Given the description of an element on the screen output the (x, y) to click on. 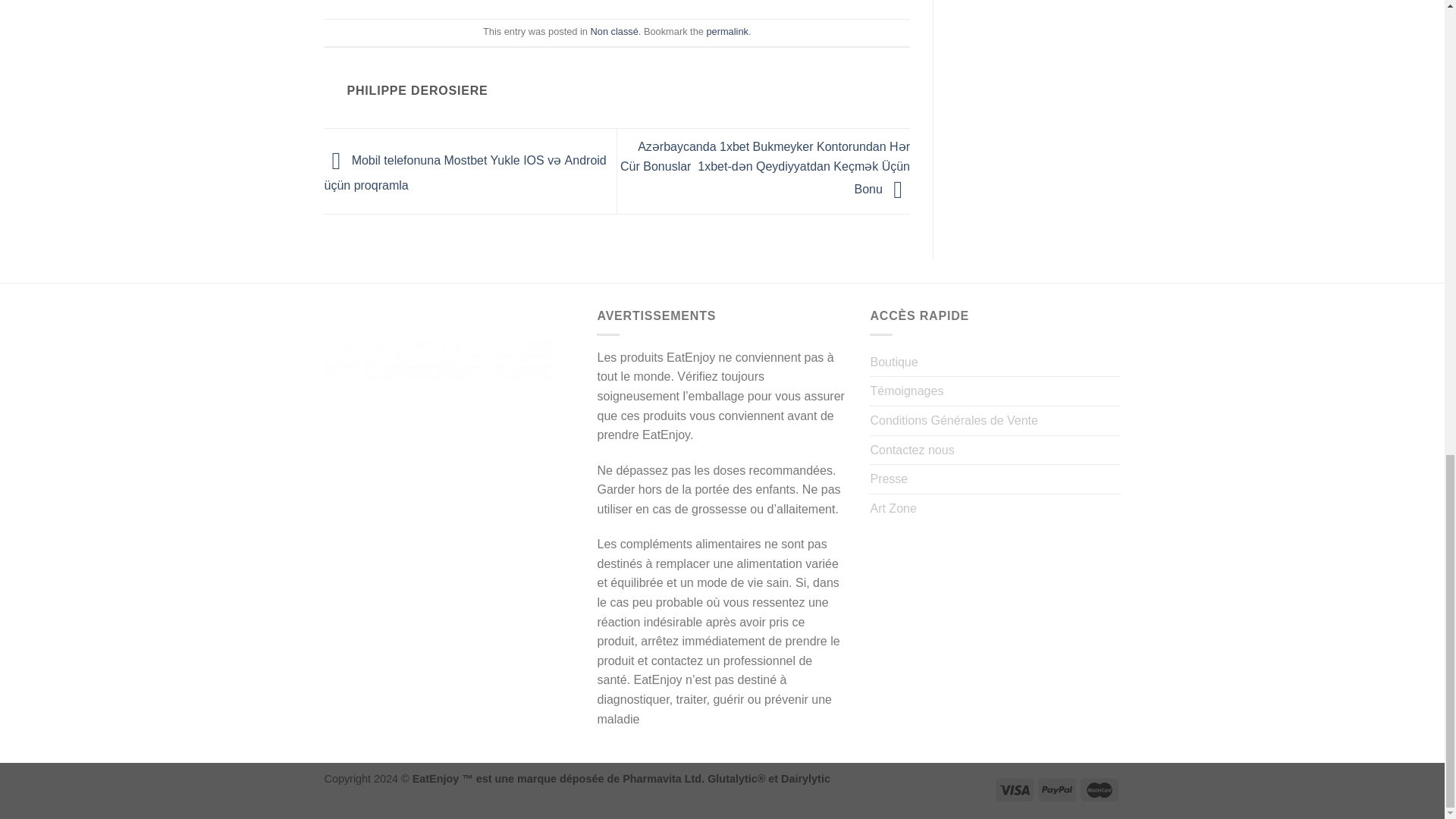
permalink (727, 30)
Permalink to Oriental Marriage Custom (727, 30)
